Given the description of an element on the screen output the (x, y) to click on. 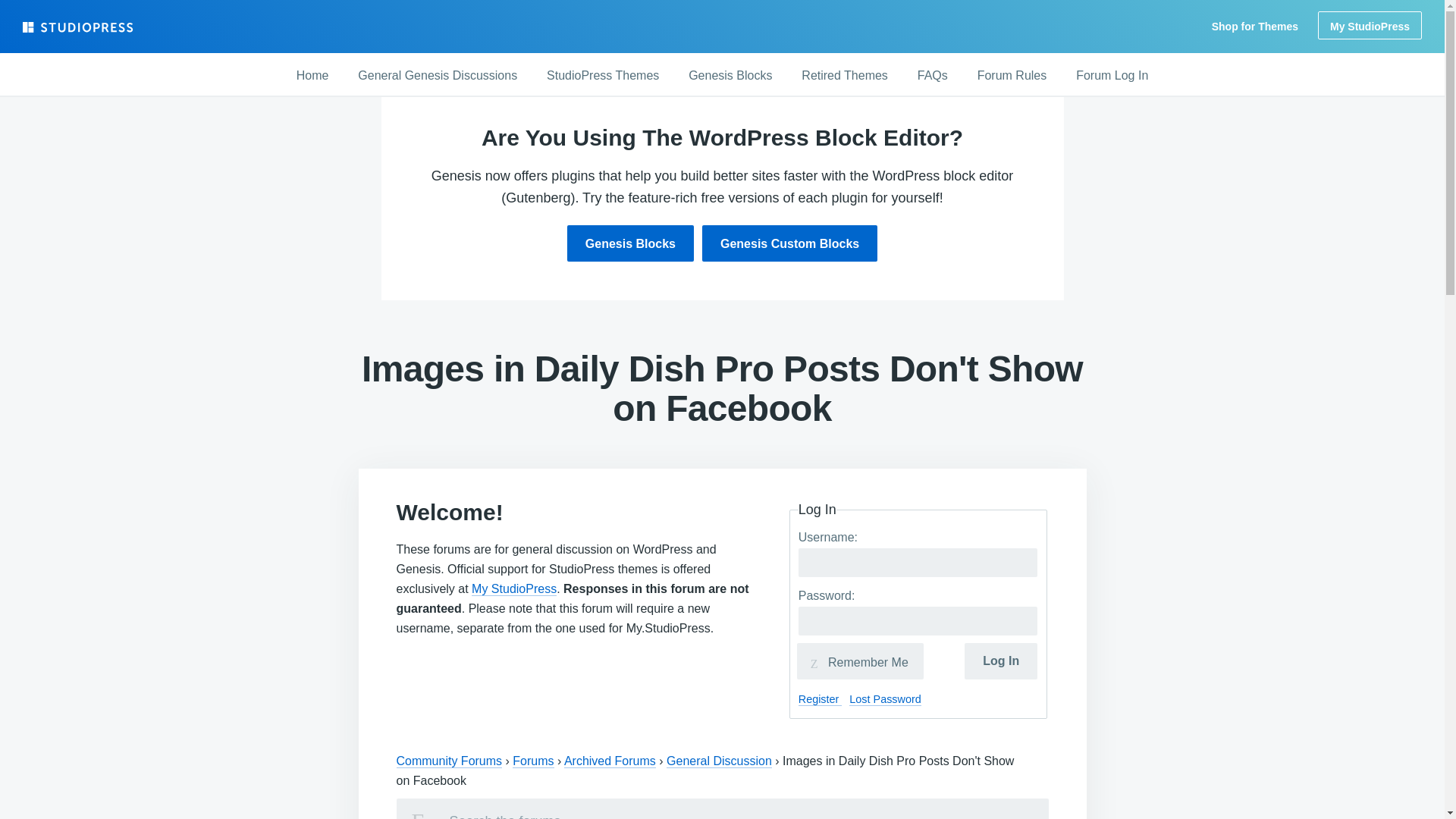
Genesis Custom Blocks (789, 242)
Forum Log In (1112, 75)
FAQs (932, 75)
Home (312, 75)
Archived Forums (610, 761)
StudioPress.com (79, 27)
Genesis Blocks (630, 242)
Register (820, 698)
My StudioPress (1369, 25)
